Given the description of an element on the screen output the (x, y) to click on. 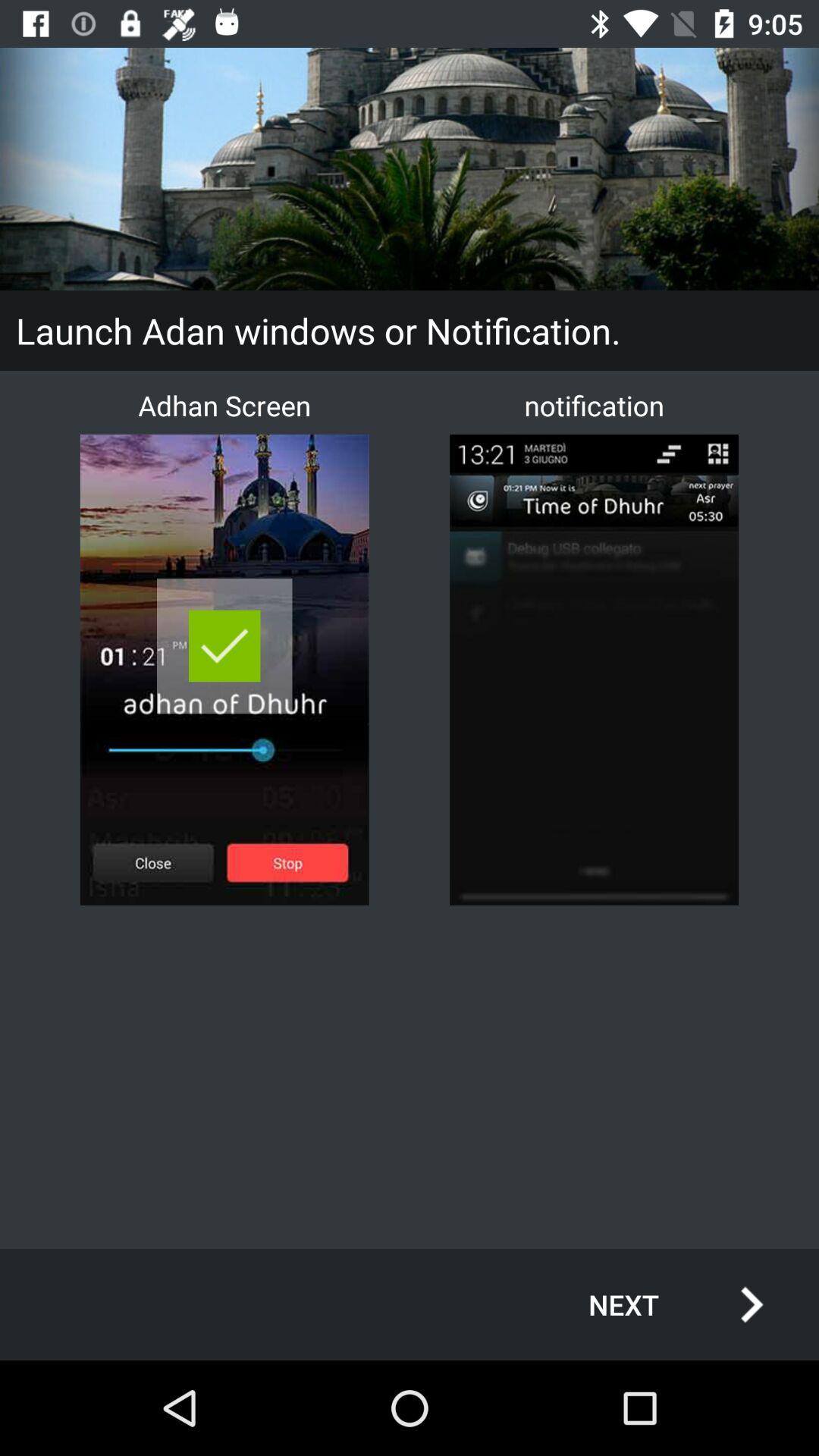
click the next item (659, 1304)
